Given the description of an element on the screen output the (x, y) to click on. 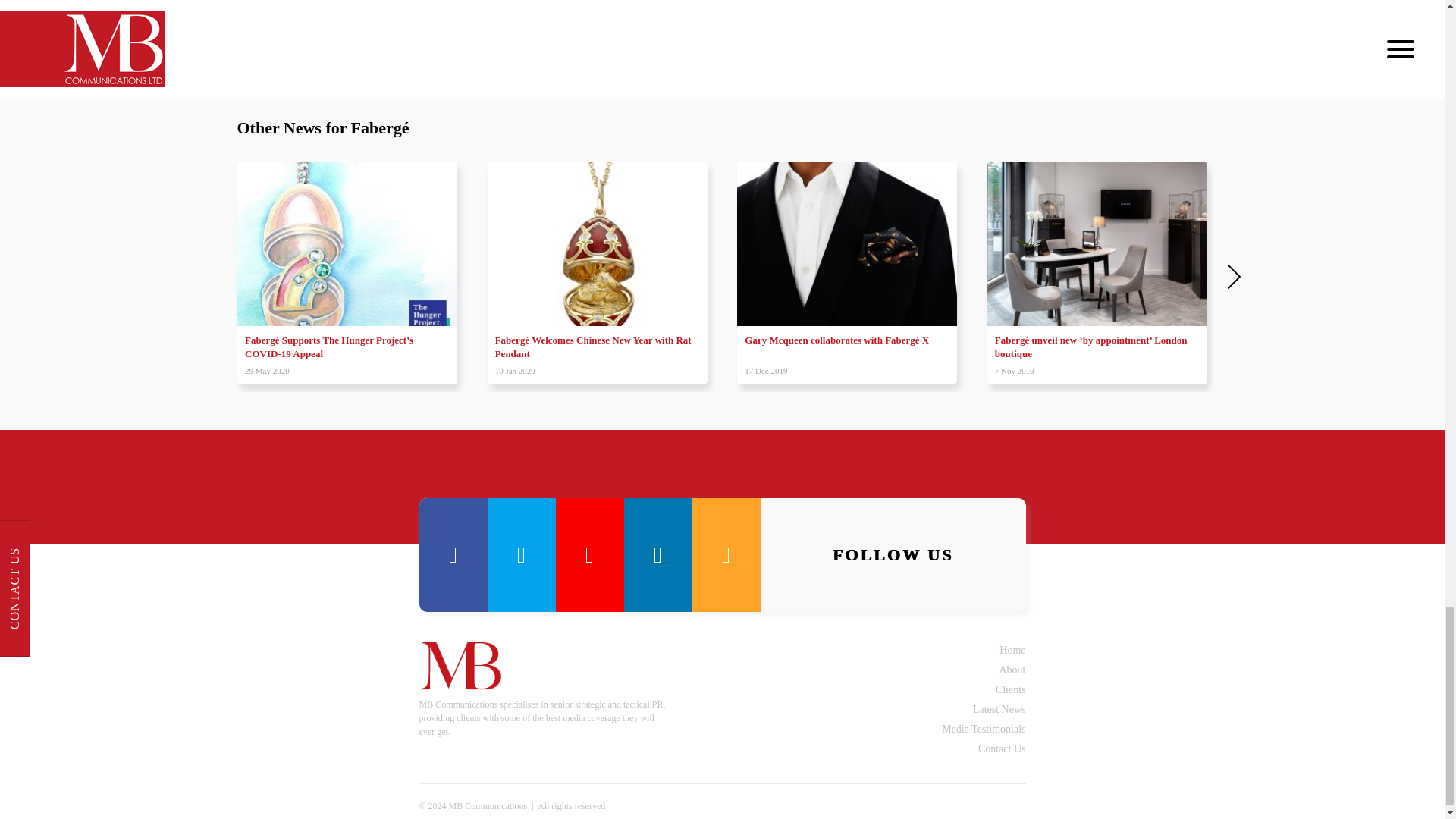
dalliance gemaddict (315, 31)
jewellery (435, 31)
timepiece (488, 31)
faberge (386, 31)
